Given the description of an element on the screen output the (x, y) to click on. 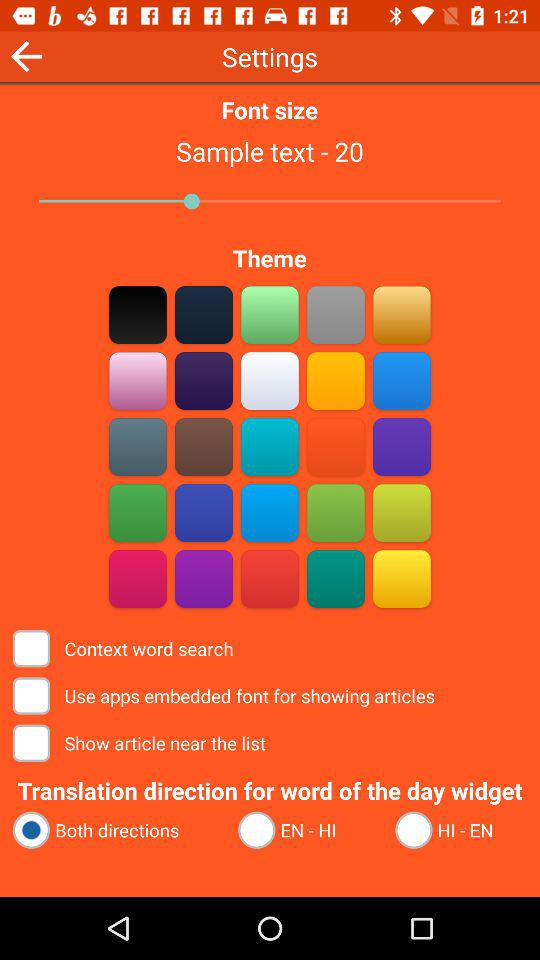
select brown (203, 446)
